Given the description of an element on the screen output the (x, y) to click on. 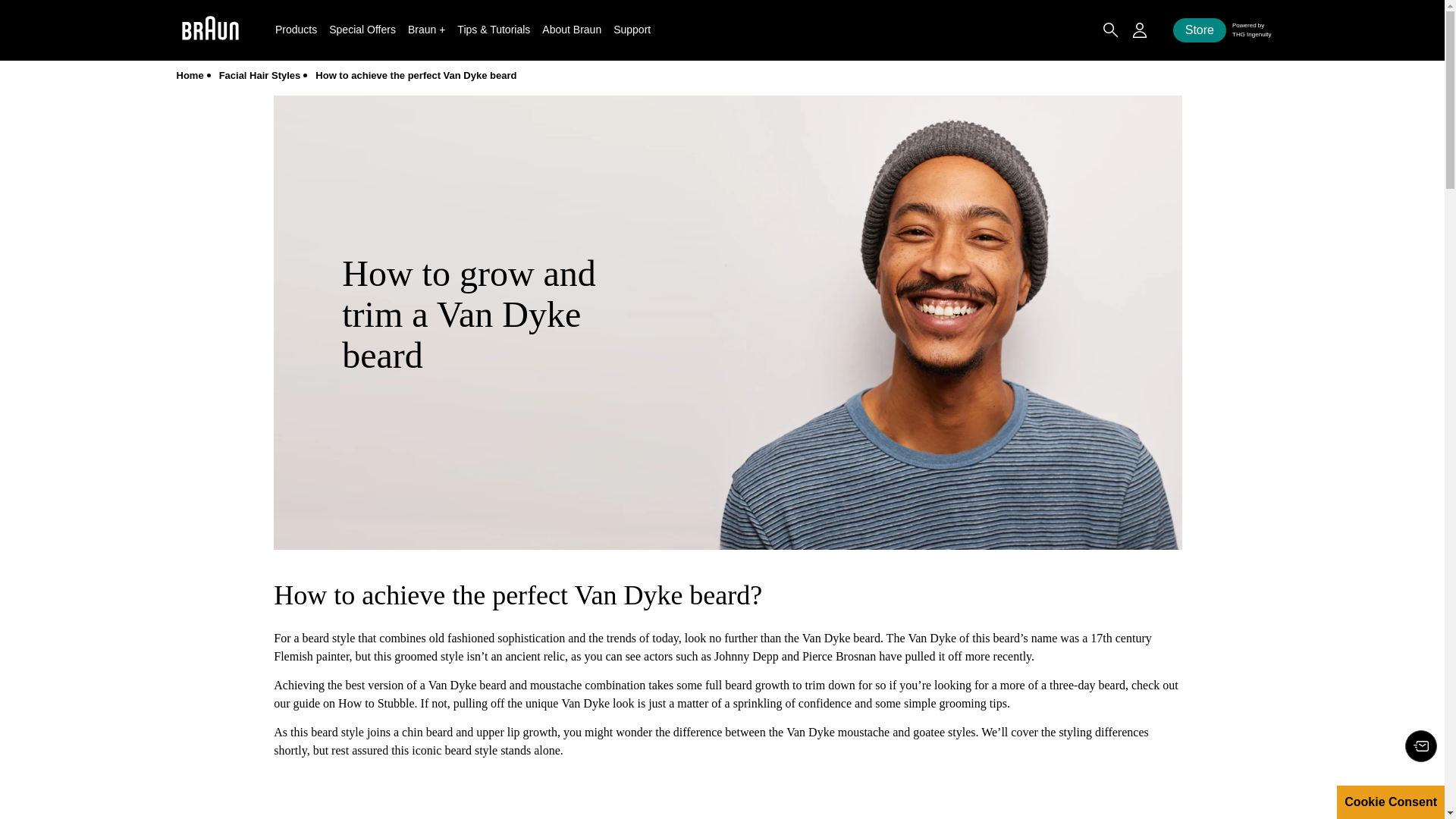
Special Offers (362, 28)
Home (189, 75)
Home (189, 75)
Club Braun (1421, 746)
How to achieve the perfect Van Dyke beard (415, 75)
Facial Hair Styles (260, 75)
How to achieve the perfect Van Dyke beard (415, 75)
Facial Hair Styles (260, 75)
Store (1199, 30)
